Given the description of an element on the screen output the (x, y) to click on. 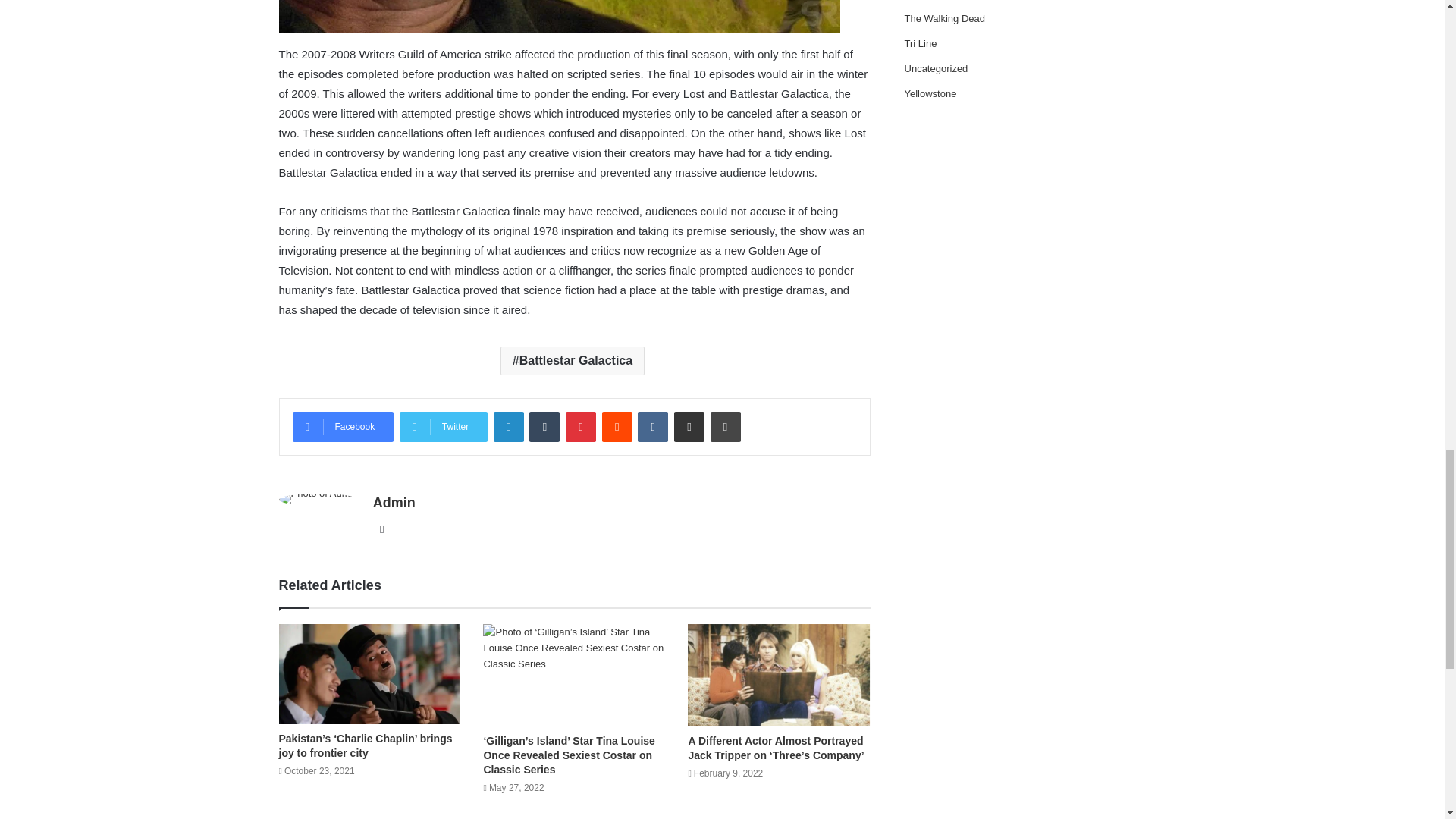
Battlestar Galactica (572, 360)
Tumblr (544, 426)
LinkedIn (508, 426)
Facebook (343, 426)
Share via Email (689, 426)
Twitter (442, 426)
Print (725, 426)
Admin (393, 502)
Pinterest (580, 426)
Share via Email (689, 426)
